Given the description of an element on the screen output the (x, y) to click on. 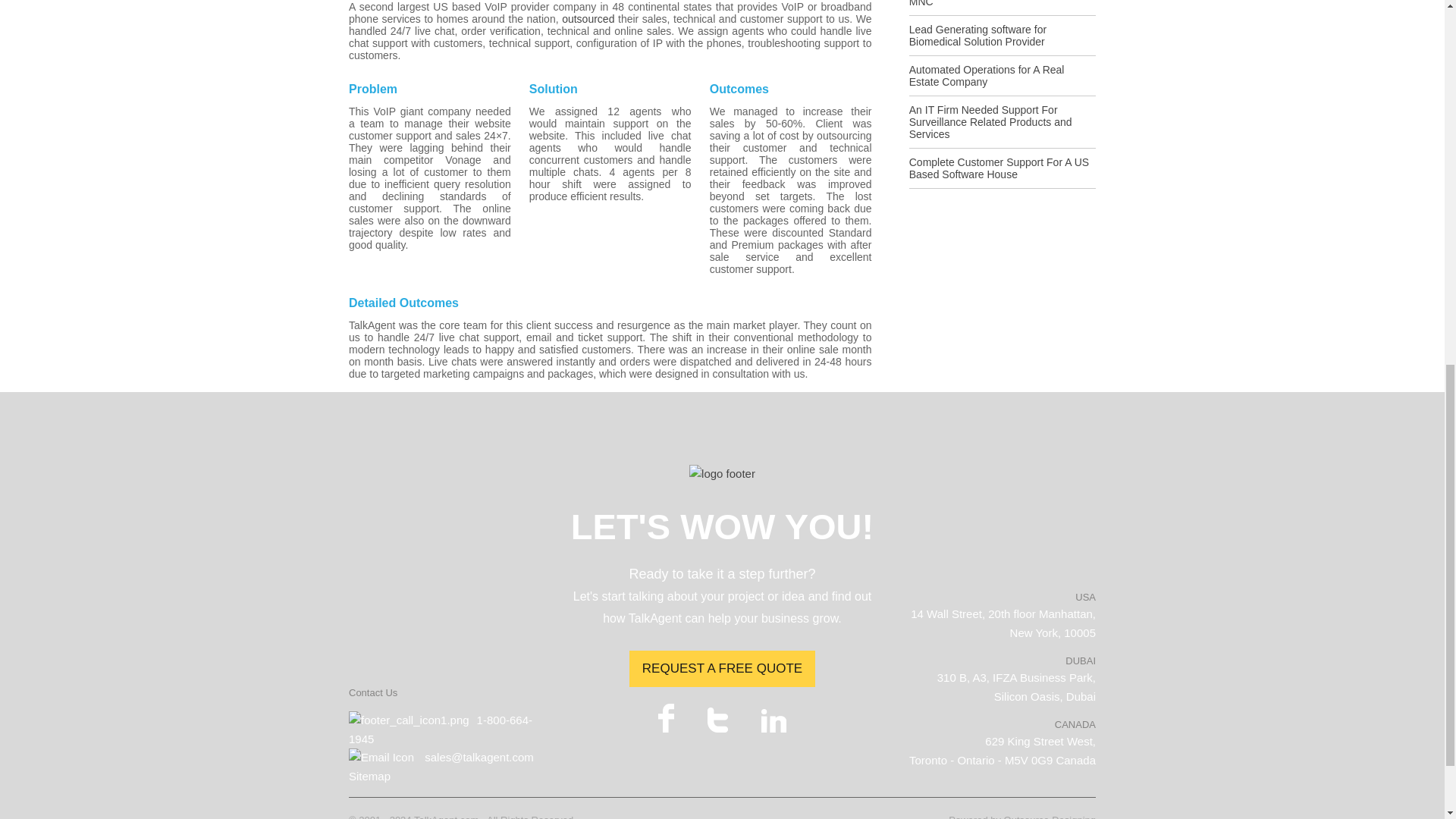
Complete Customer Support For A US Based Software House (1002, 172)
outsourced (588, 19)
Lead Generating software for Biomedical Solution Provider (1002, 39)
Automated Operations for A Real Estate Company (1002, 79)
1-800-664-1945 (440, 728)
Multi-Lingual Live Chat Support For MNC (1002, 7)
REQUEST A FREE QUOTE (721, 668)
